Given the description of an element on the screen output the (x, y) to click on. 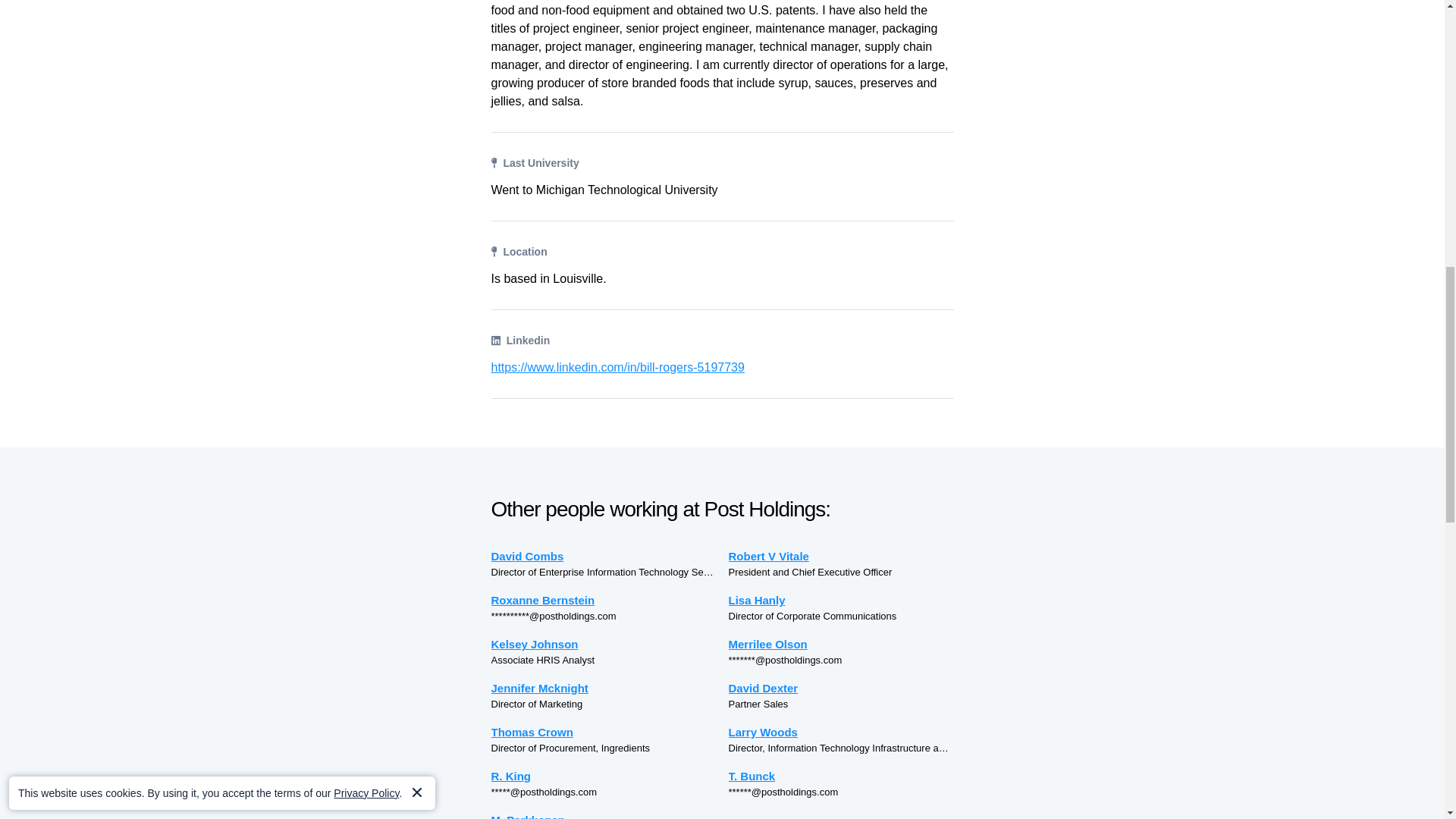
David Combs (604, 556)
M. Parkkonen (604, 815)
David Dexter (840, 687)
Robert V Vitale (840, 556)
Lisa Hanly (840, 600)
R. King (604, 775)
Merrilee Olson (840, 643)
Roxanne Bernstein (604, 600)
T. Bunck (840, 775)
Thomas Crown (604, 732)
